Given the description of an element on the screen output the (x, y) to click on. 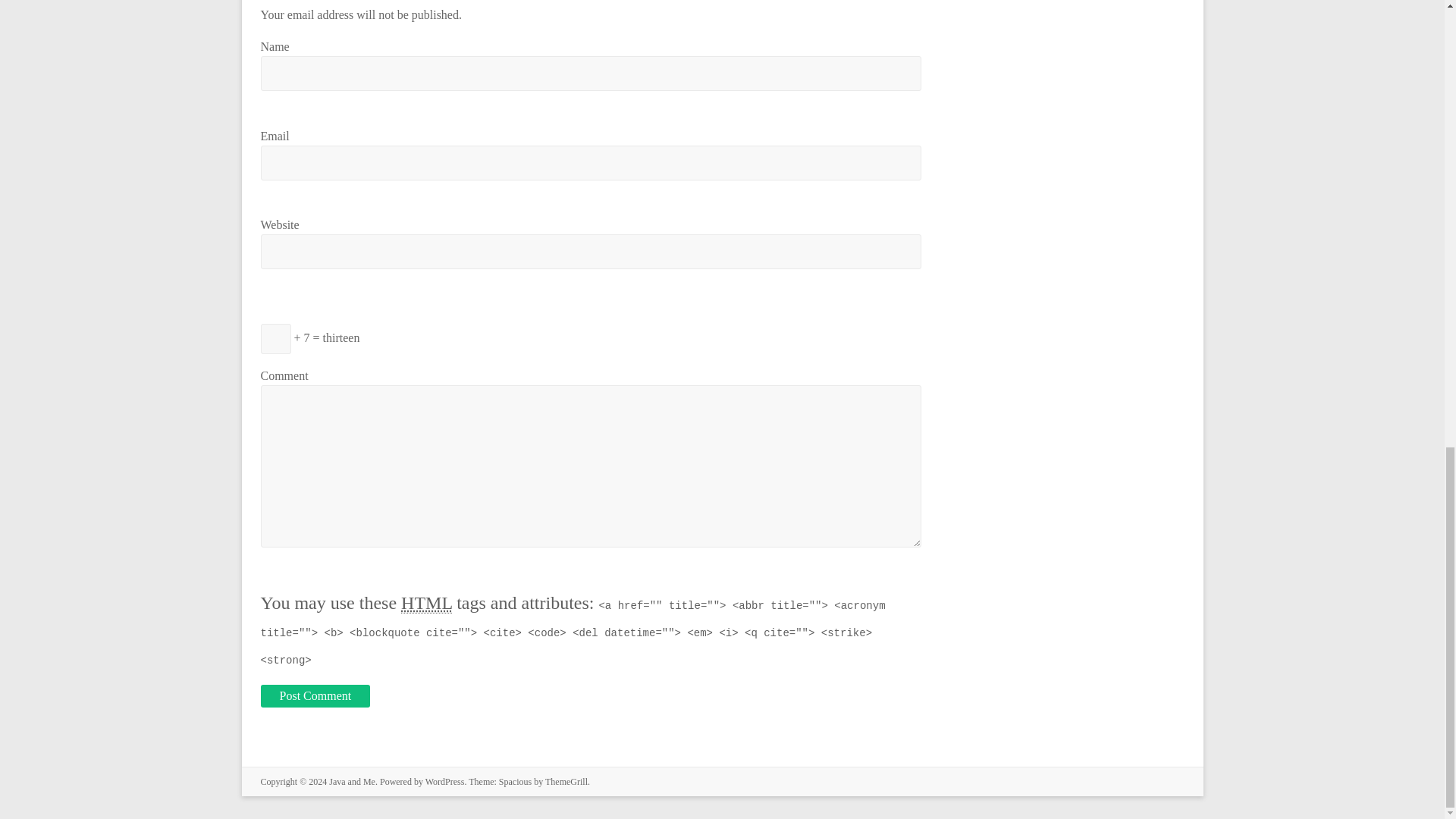
Post Comment (315, 695)
WordPress (444, 781)
Java and Me (352, 781)
Java and Me (352, 781)
Post Comment (315, 695)
HyperText Markup Language (426, 602)
ThemeGrill (566, 781)
WordPress (444, 781)
ThemeGrill (566, 781)
